Given the description of an element on the screen output the (x, y) to click on. 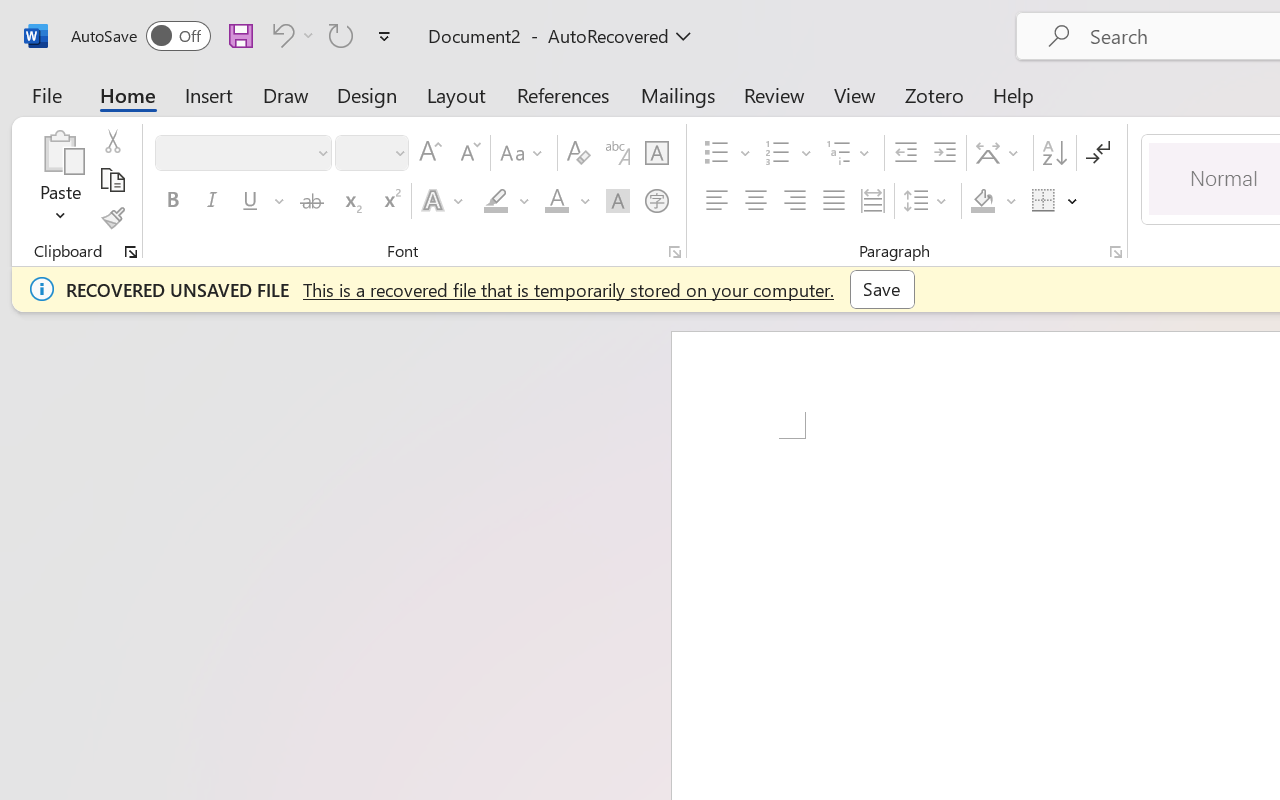
Paragraph... (1115, 252)
Line and Paragraph Spacing (927, 201)
Text Highlight Color Yellow (495, 201)
Strikethrough (312, 201)
Font Color RGB(255, 0, 0) (556, 201)
Character Border (656, 153)
